Given the description of an element on the screen output the (x, y) to click on. 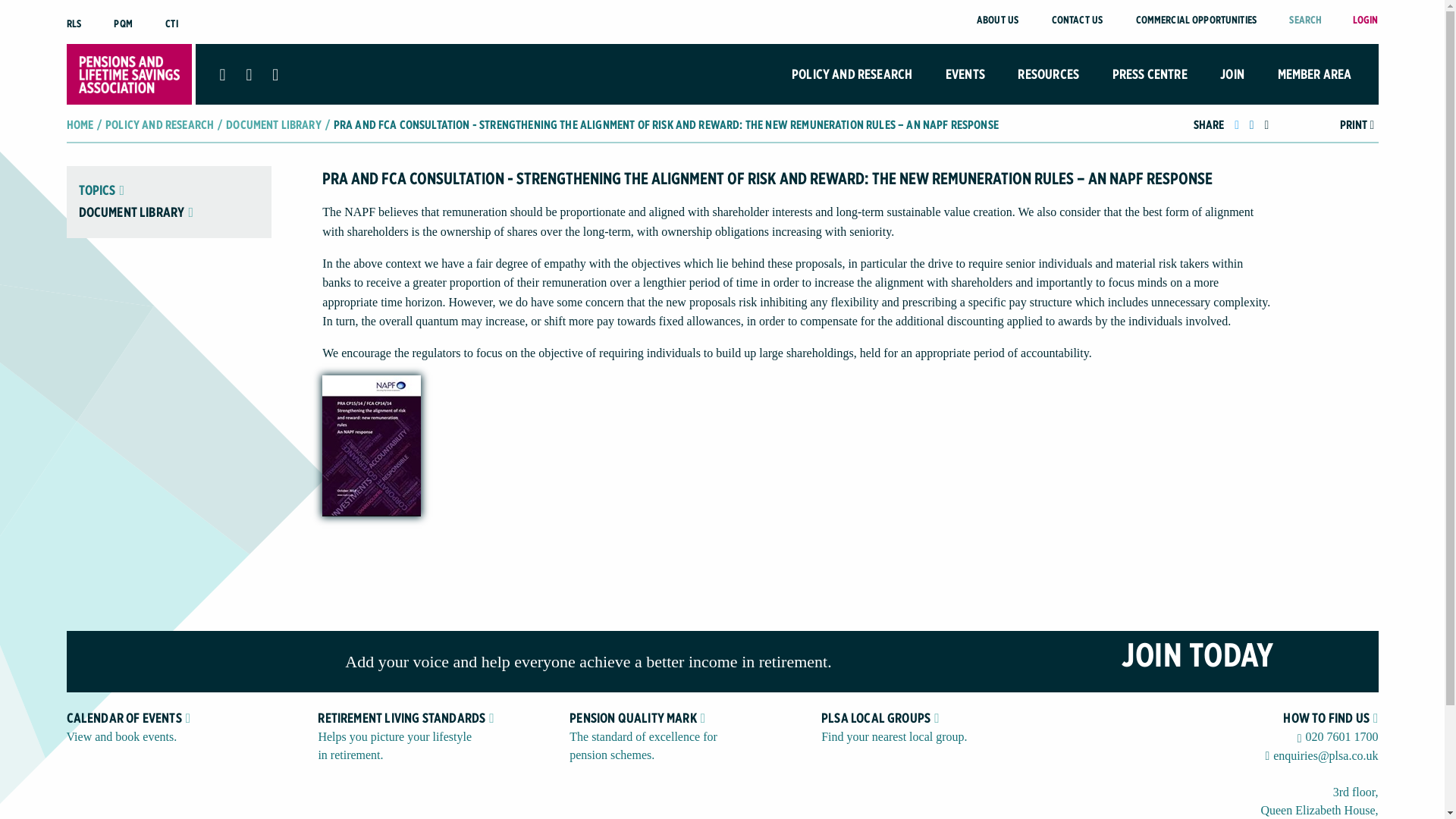
COMMERCIAL OPPORTUNITIES (1195, 19)
POLICY AND RESEARCH (159, 124)
MEMBER AREA (1315, 73)
RLS (73, 23)
PQM (122, 23)
HOME (80, 124)
JOIN (1232, 73)
CTI (171, 23)
LOGIN (1365, 19)
SEARCH (1305, 19)
ABOUT US (996, 19)
PRESS CENTRE (1150, 73)
RESOURCES (1047, 73)
POLICY AND RESEARCH (852, 73)
CONTACT US (1076, 19)
